Given the description of an element on the screen output the (x, y) to click on. 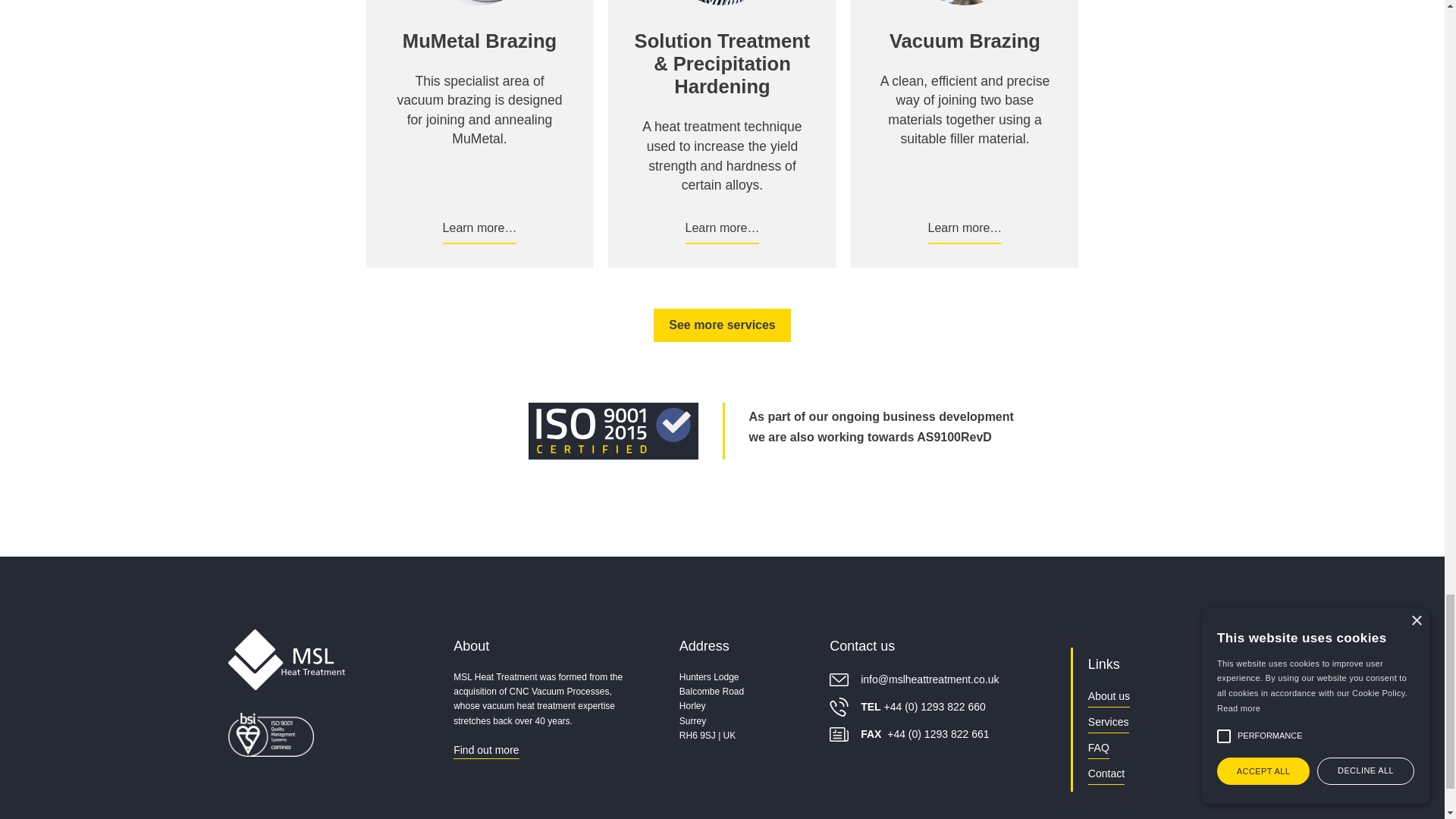
Contact (1105, 774)
FAQ (1098, 749)
See more services (721, 325)
Services (1108, 723)
Find out more (485, 751)
About us (1108, 697)
